Given the description of an element on the screen output the (x, y) to click on. 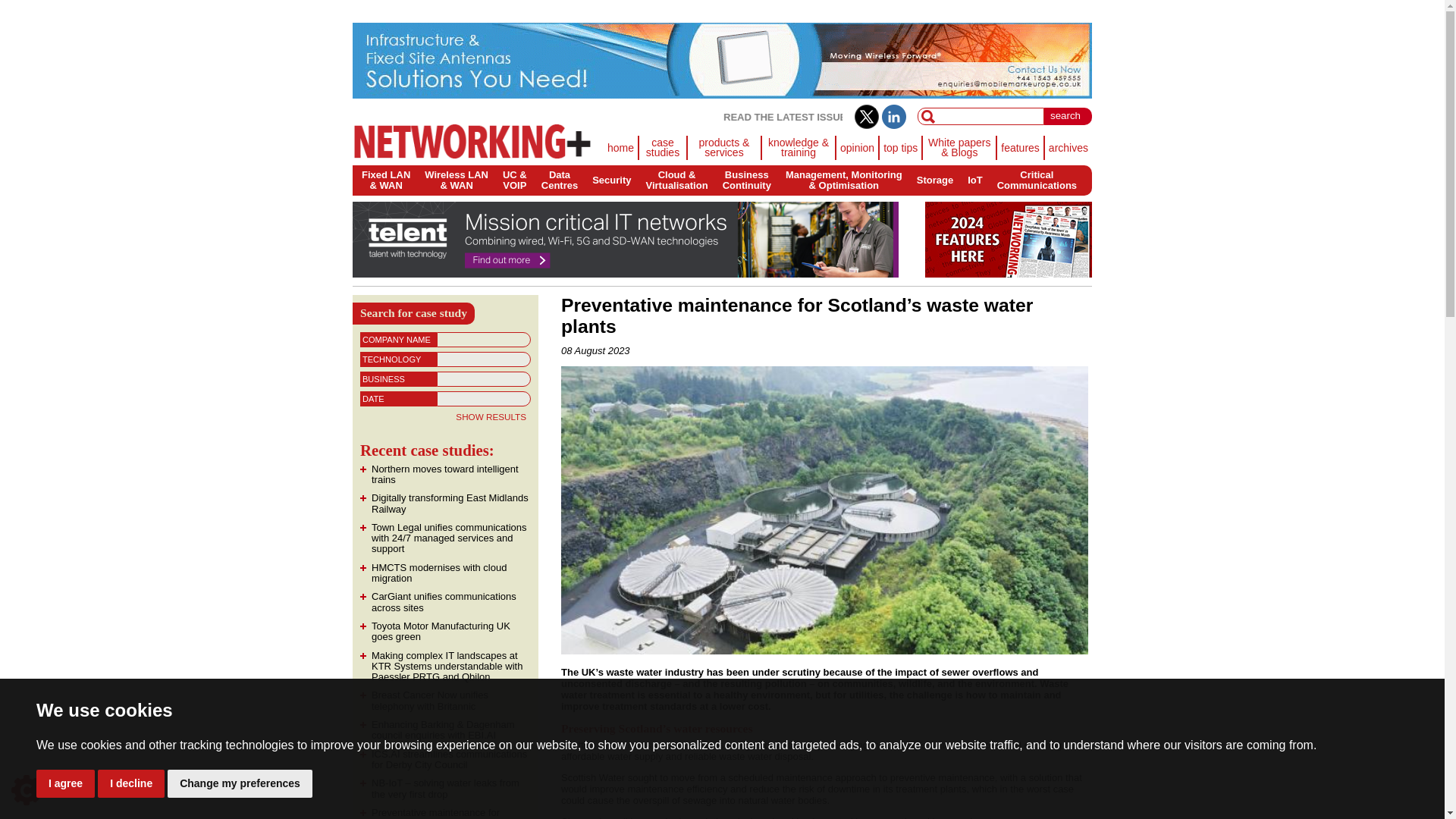
I agree (65, 783)
Change my preferences (559, 180)
archives (746, 180)
features (240, 783)
Security (1068, 147)
I decline (1021, 147)
opinion (611, 180)
top tips (1036, 180)
Storage (130, 783)
READ THE LATEST ISSUE HERE (857, 147)
case studies (901, 147)
search (934, 180)
